Given the description of an element on the screen output the (x, y) to click on. 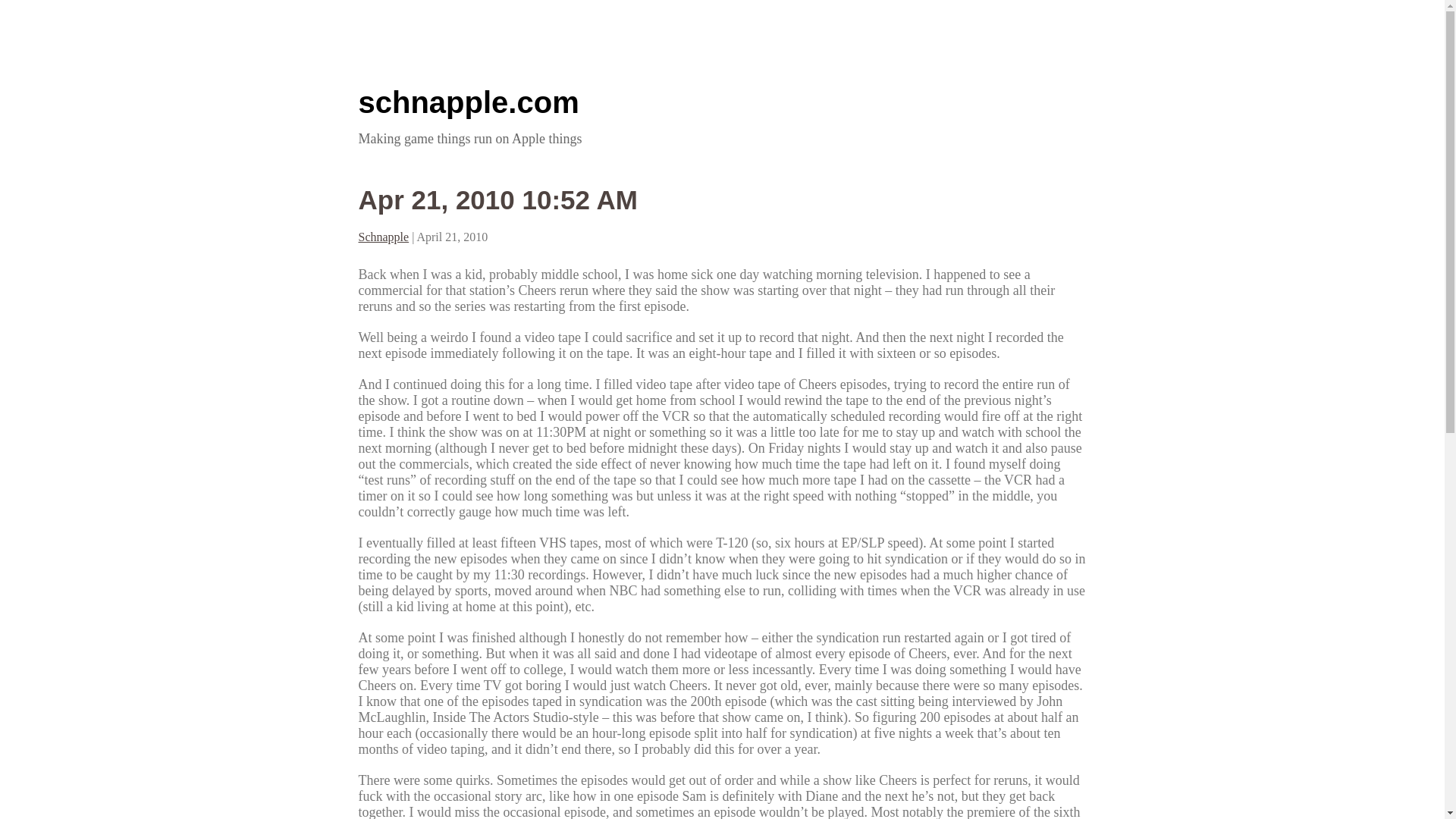
schnapple.com (468, 101)
Apr 21, 2010 10:52 AM (497, 199)
Posts by Schnapple (383, 236)
Apr 21, 2010 10:52 AM (497, 199)
Schnapple (383, 236)
schnapple.com (468, 101)
